Given the description of an element on the screen output the (x, y) to click on. 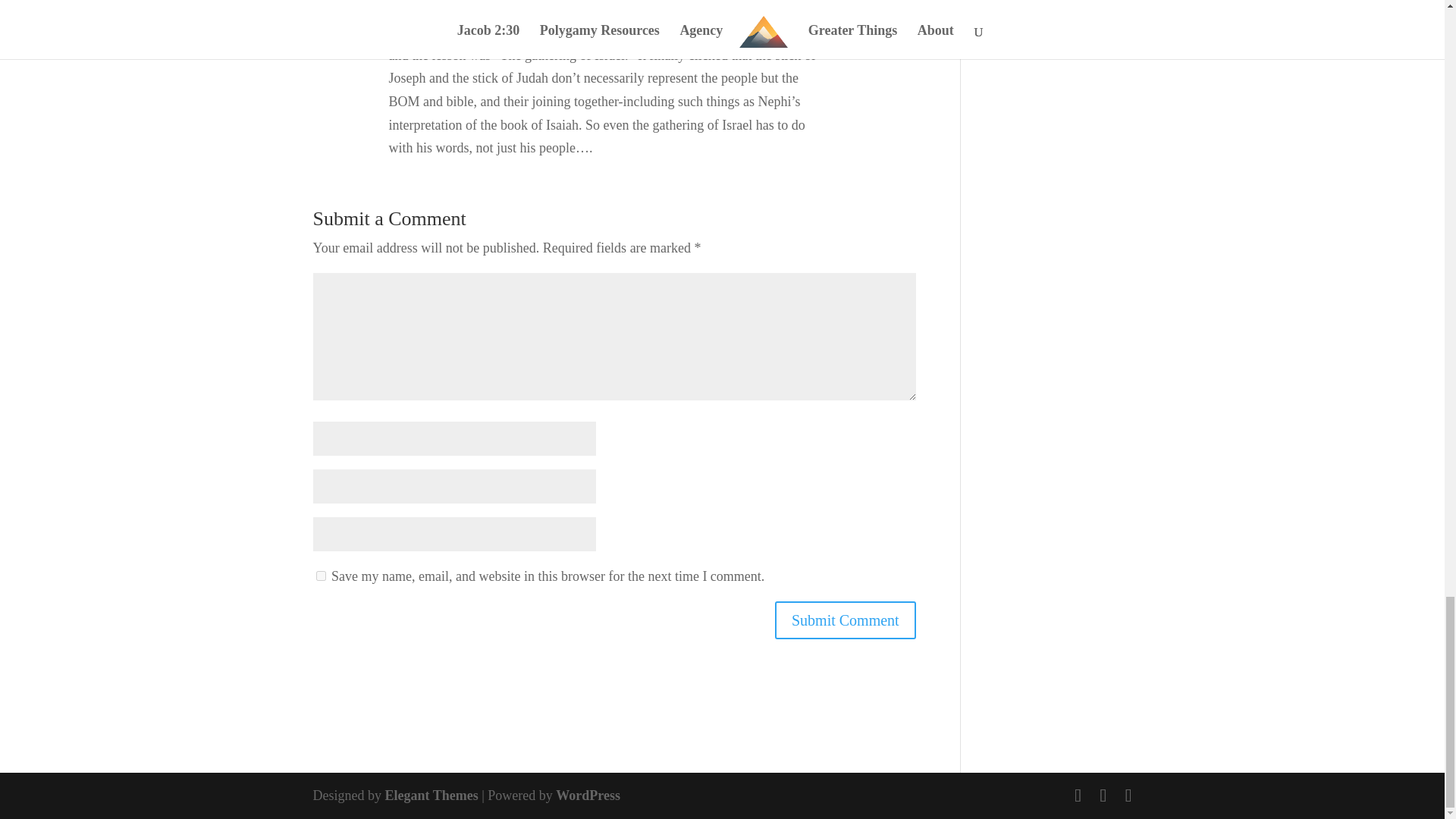
Reply (880, 4)
Submit Comment (844, 620)
Premium WordPress Themes (430, 795)
Submit Comment (844, 620)
yes (319, 575)
